Given the description of an element on the screen output the (x, y) to click on. 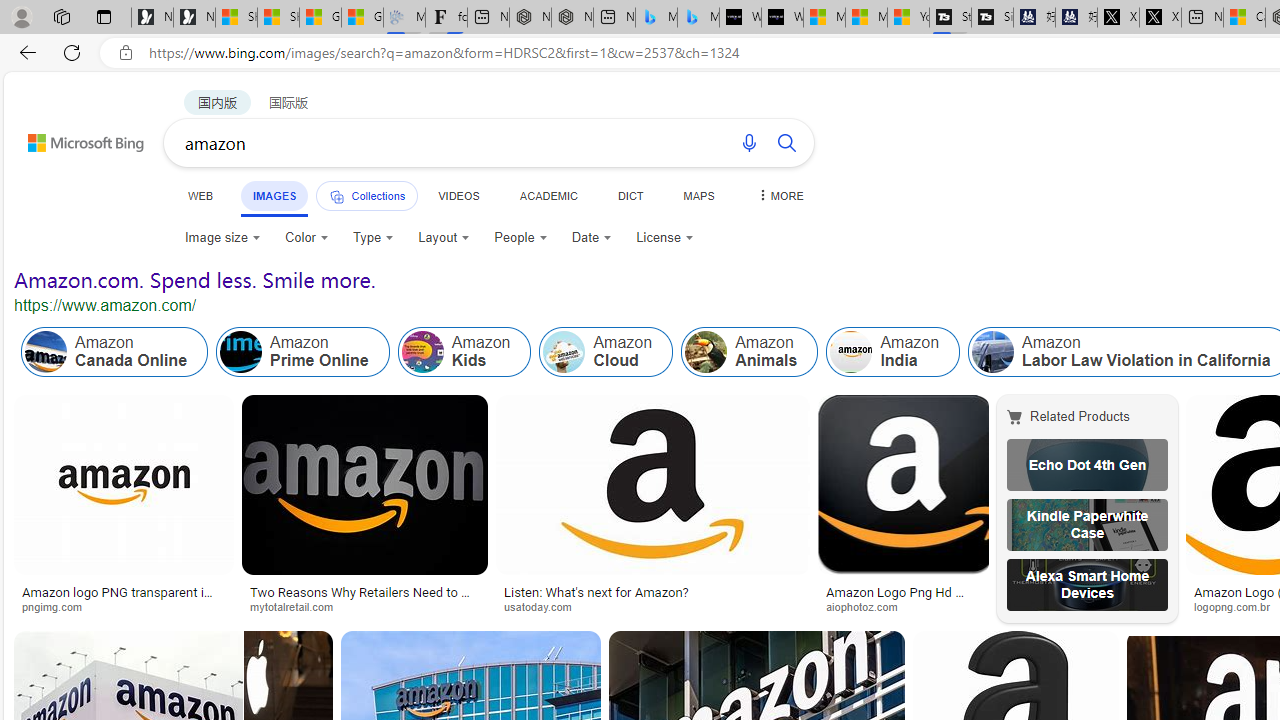
Layout (443, 237)
DICT (630, 195)
Search using voice (748, 142)
Amazon Prime Online (303, 351)
Kindle Paperwhite Case (1087, 524)
Amazon Labor Law Violation in California (993, 351)
Listen: What's next for Amazon? (653, 592)
